Given the description of an element on the screen output the (x, y) to click on. 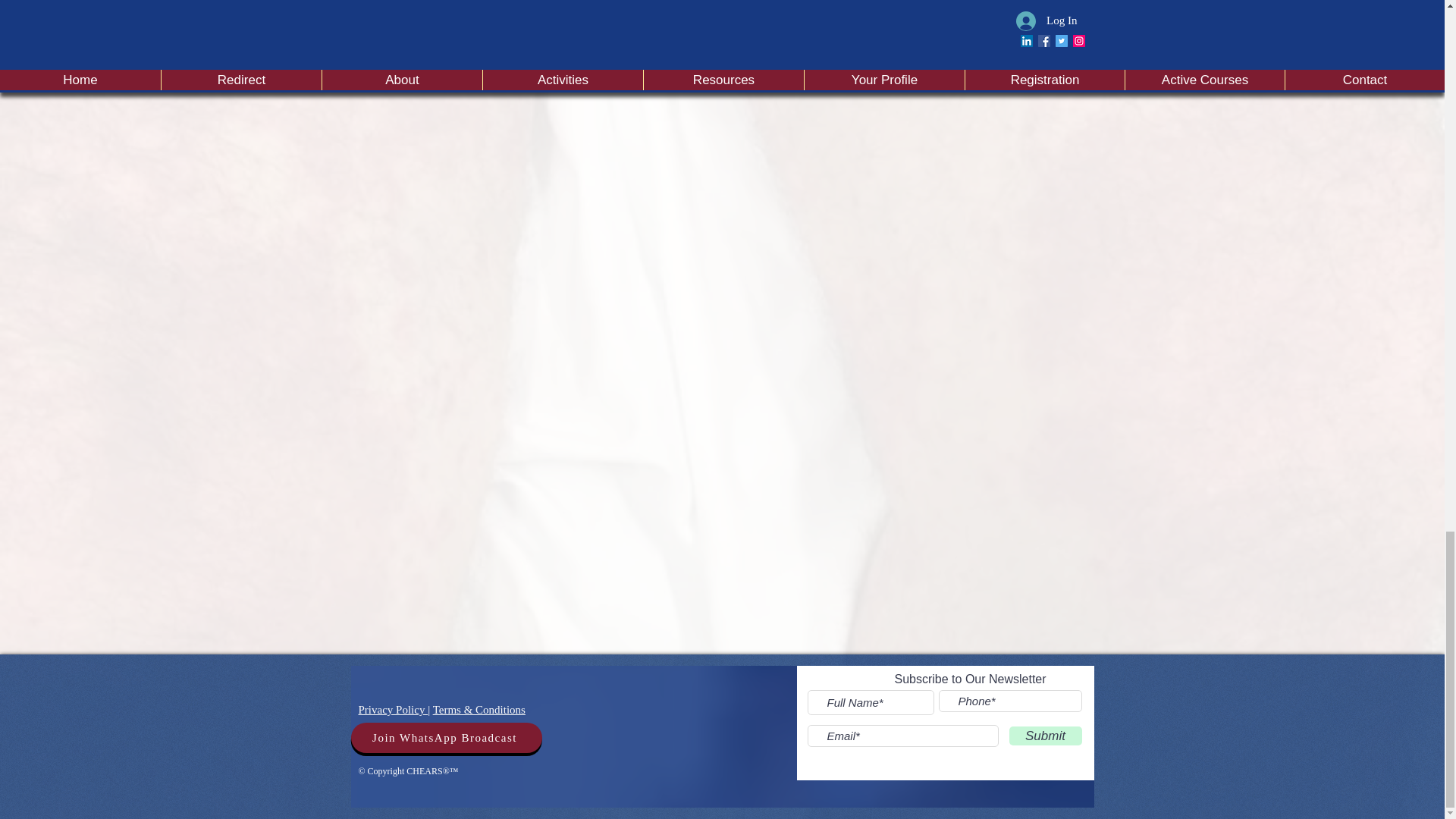
Submit (1045, 735)
Read (800, 45)
Privacy Policy (393, 709)
Read (544, 55)
Read (1055, 45)
Join WhatsApp Broadcast (445, 737)
